Given the description of an element on the screen output the (x, y) to click on. 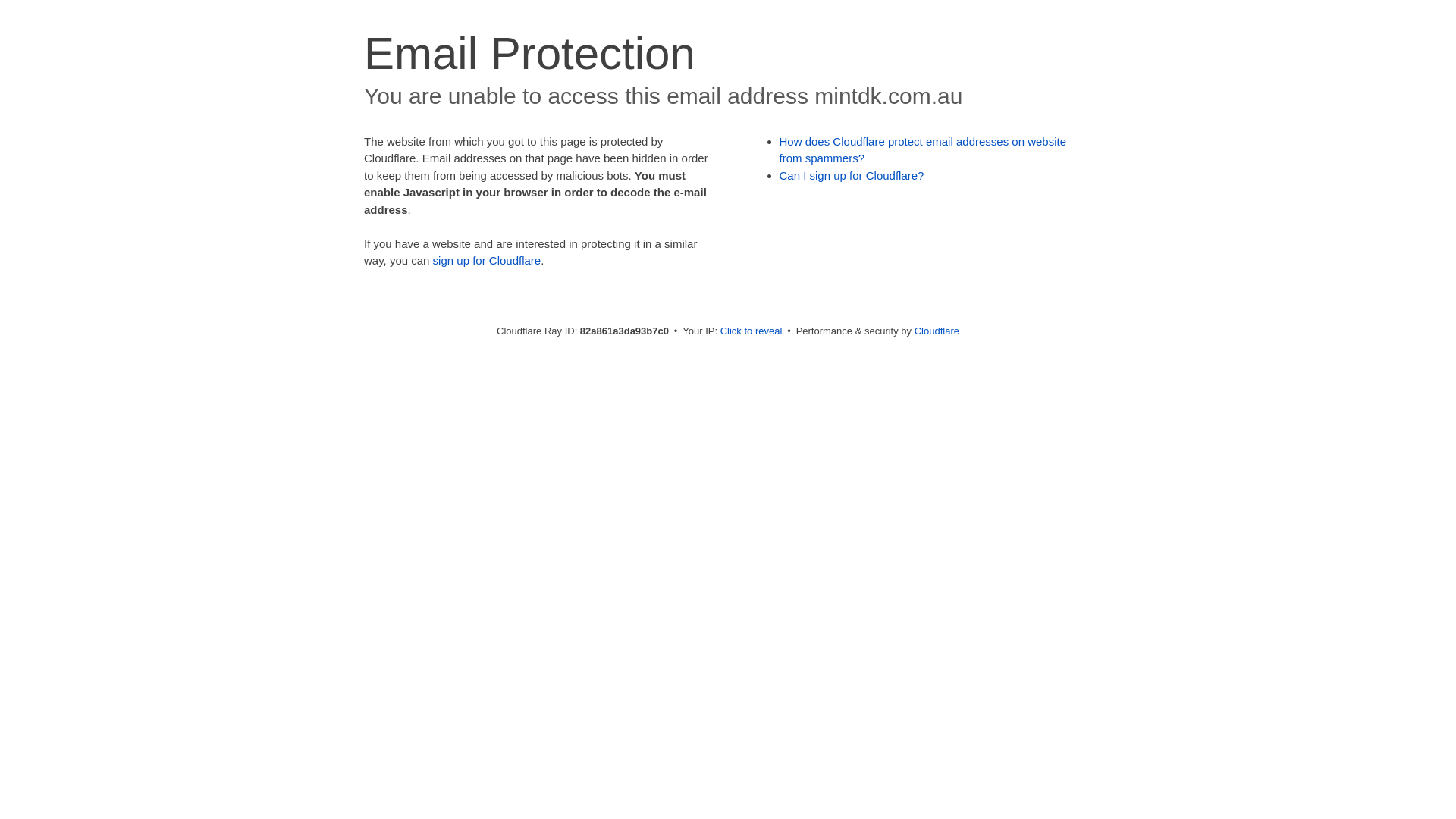
sign up for Cloudflare Element type: text (487, 260)
Click to reveal Element type: text (751, 330)
Can I sign up for Cloudflare? Element type: text (851, 175)
Cloudflare Element type: text (936, 330)
